Given the description of an element on the screen output the (x, y) to click on. 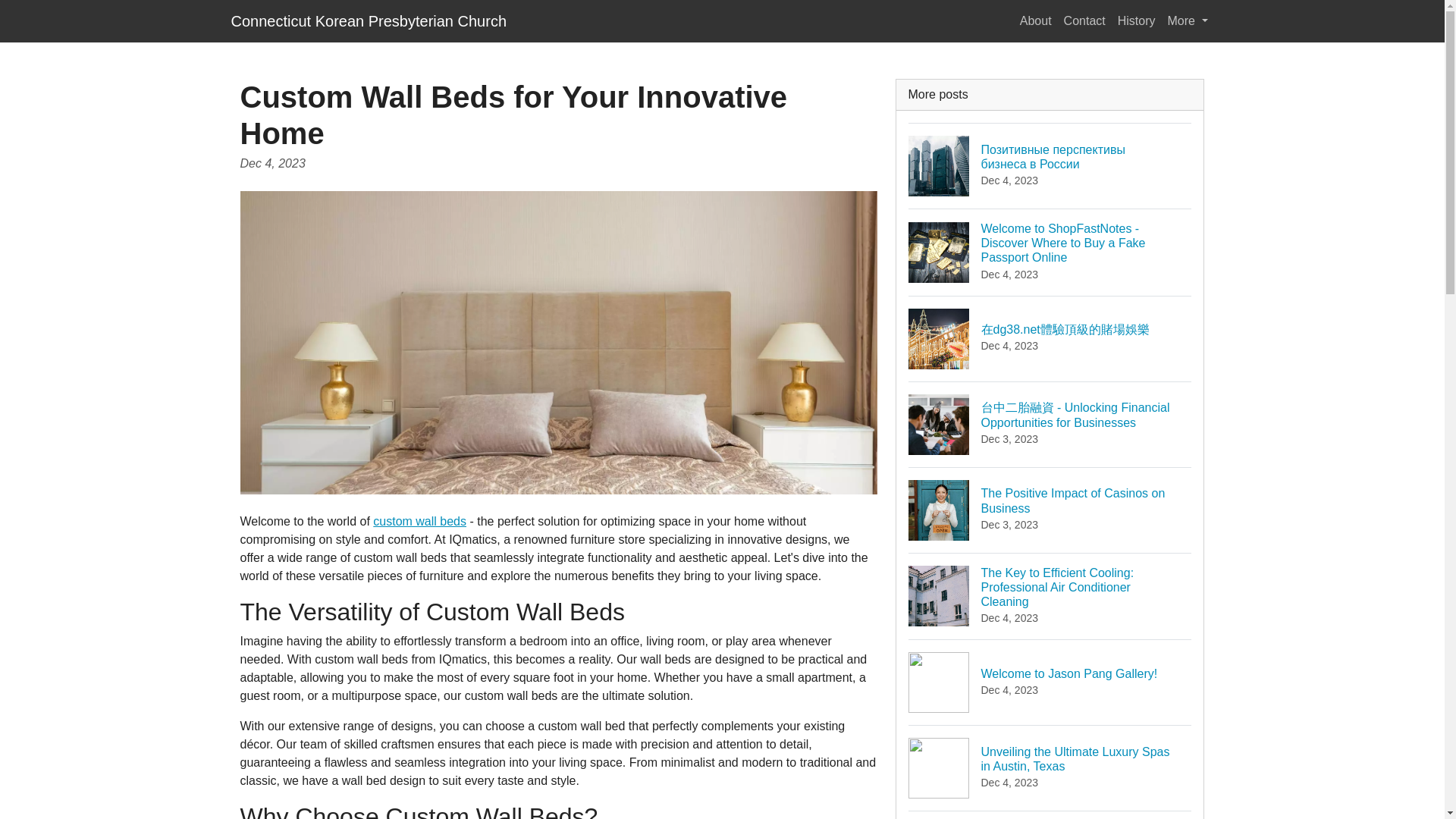
About (1035, 20)
custom wall beds (1050, 681)
More (418, 521)
History (1187, 20)
Connecticut Korean Presbyterian Church (1136, 20)
Contact (368, 20)
